Given the description of an element on the screen output the (x, y) to click on. 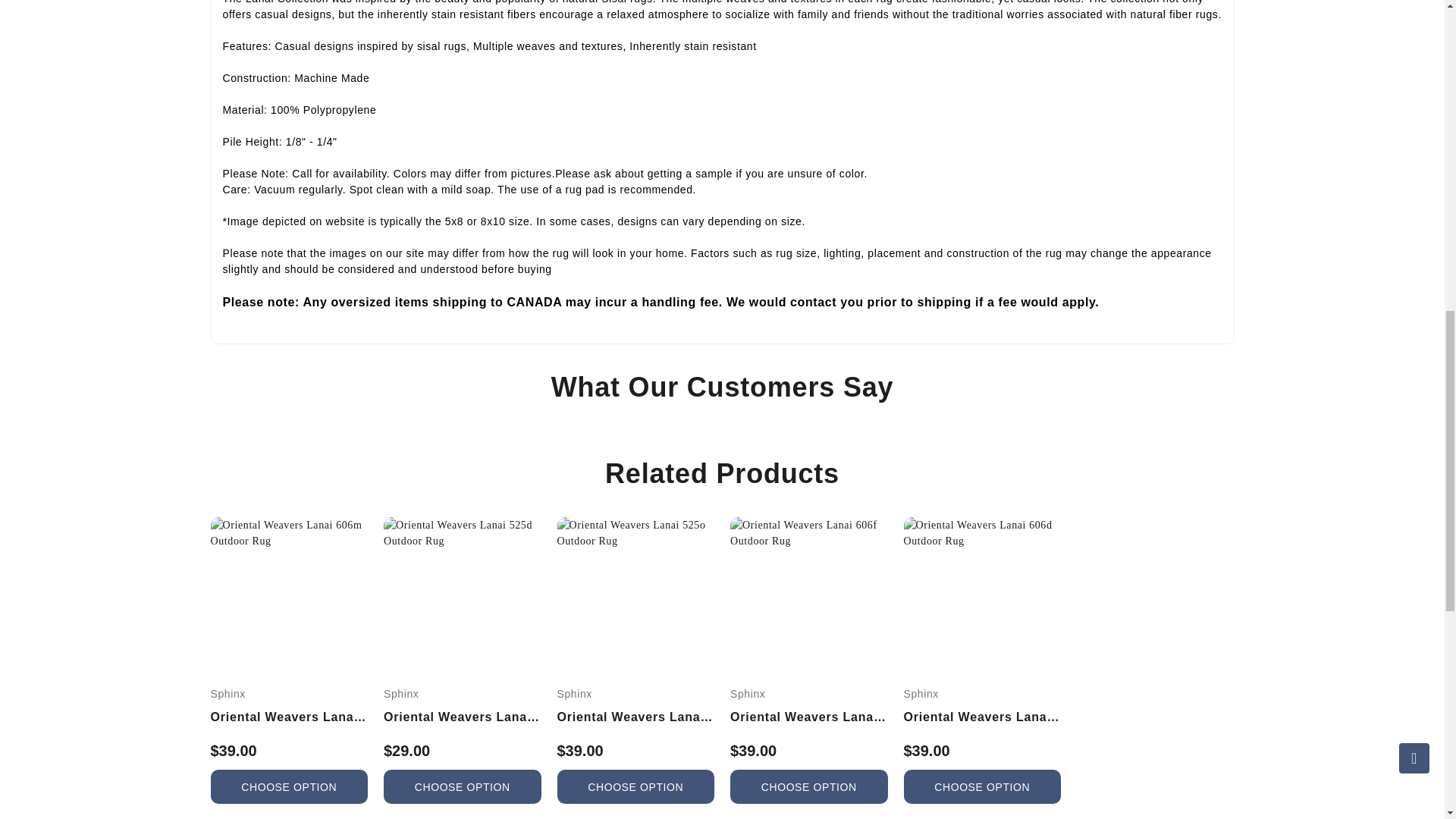
Choose Options (809, 786)
Choose Options (982, 786)
Oriental Weavers Lanai 606d Outdoor Rug (982, 532)
Choose Options (462, 786)
Oriental Weavers Lanai 525d Outdoor Rug (462, 532)
Choose Options (635, 786)
Oriental Weavers Lanai 525o Outdoor Rug (635, 532)
Oriental Weavers Lanai 606m Outdoor Rug (289, 532)
Choose Options (289, 786)
Oriental Weavers Lanai 606f Outdoor Rug (809, 532)
